Given the description of an element on the screen output the (x, y) to click on. 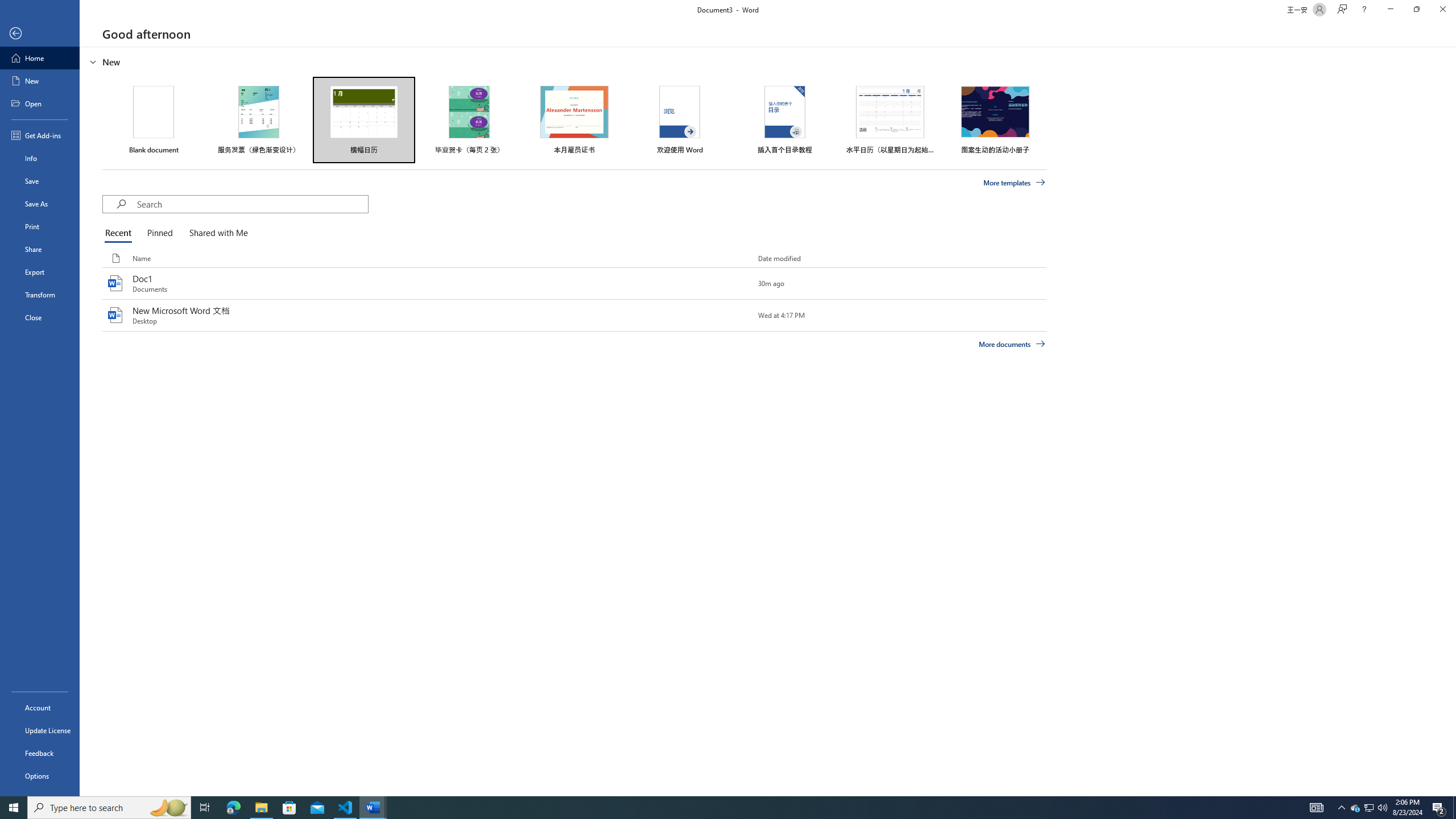
Export (40, 271)
Blank document (153, 119)
Open (40, 102)
New (40, 80)
Share (40, 248)
More templates (1014, 182)
Update License (40, 730)
Restore Down (1416, 9)
Back (40, 33)
Pinned (159, 233)
Recent (119, 233)
Info (40, 157)
